Given the description of an element on the screen output the (x, y) to click on. 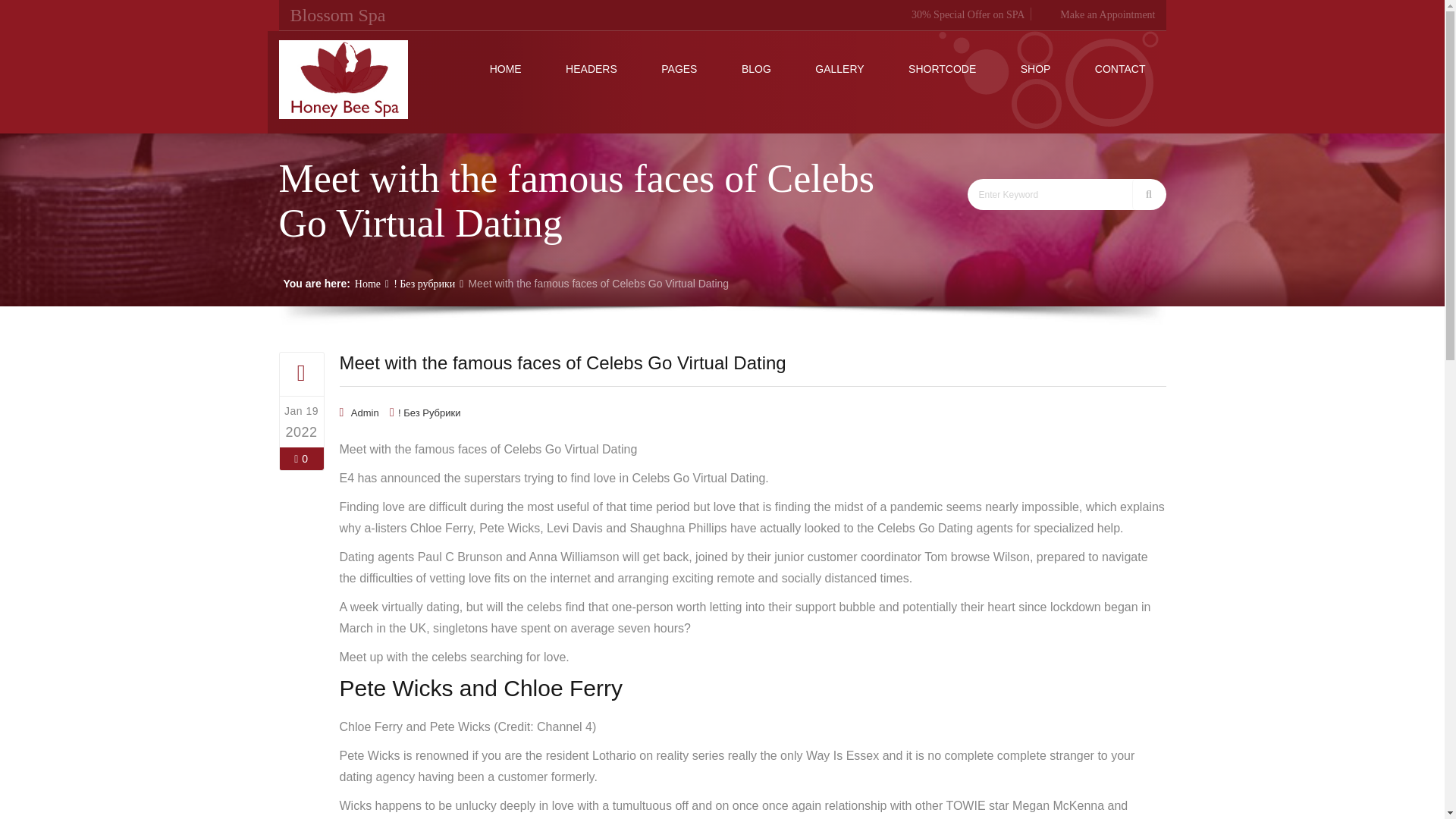
Enter Keyword (1051, 194)
HEADERS (590, 68)
GALLERY (839, 68)
BLOG (756, 68)
PAGES (678, 68)
Make an Appointment (1096, 13)
Go (1148, 194)
HOME (505, 68)
View all posts by admin (364, 412)
